Given the description of an element on the screen output the (x, y) to click on. 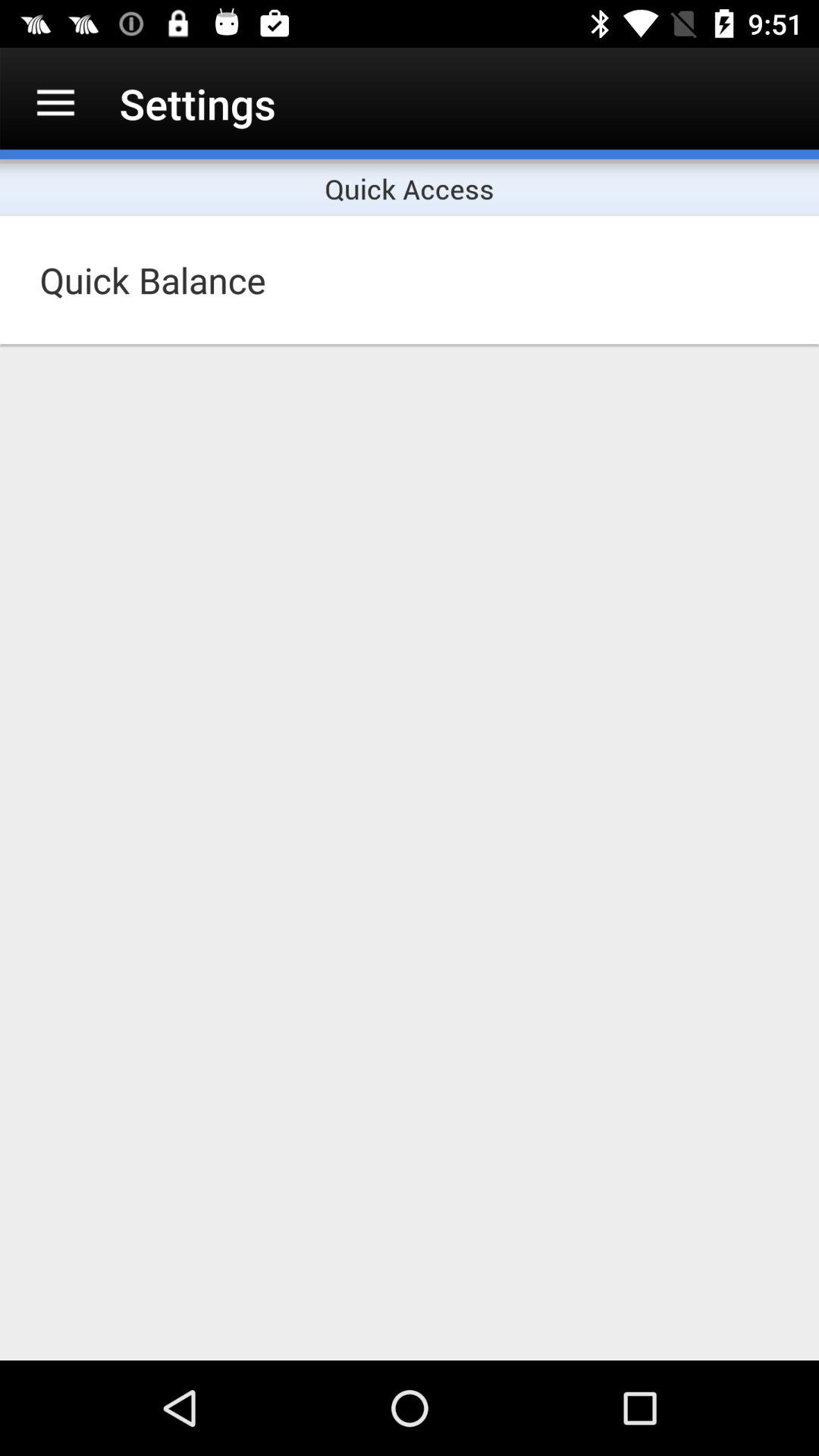
turn on app next to settings app (55, 103)
